Given the description of an element on the screen output the (x, y) to click on. 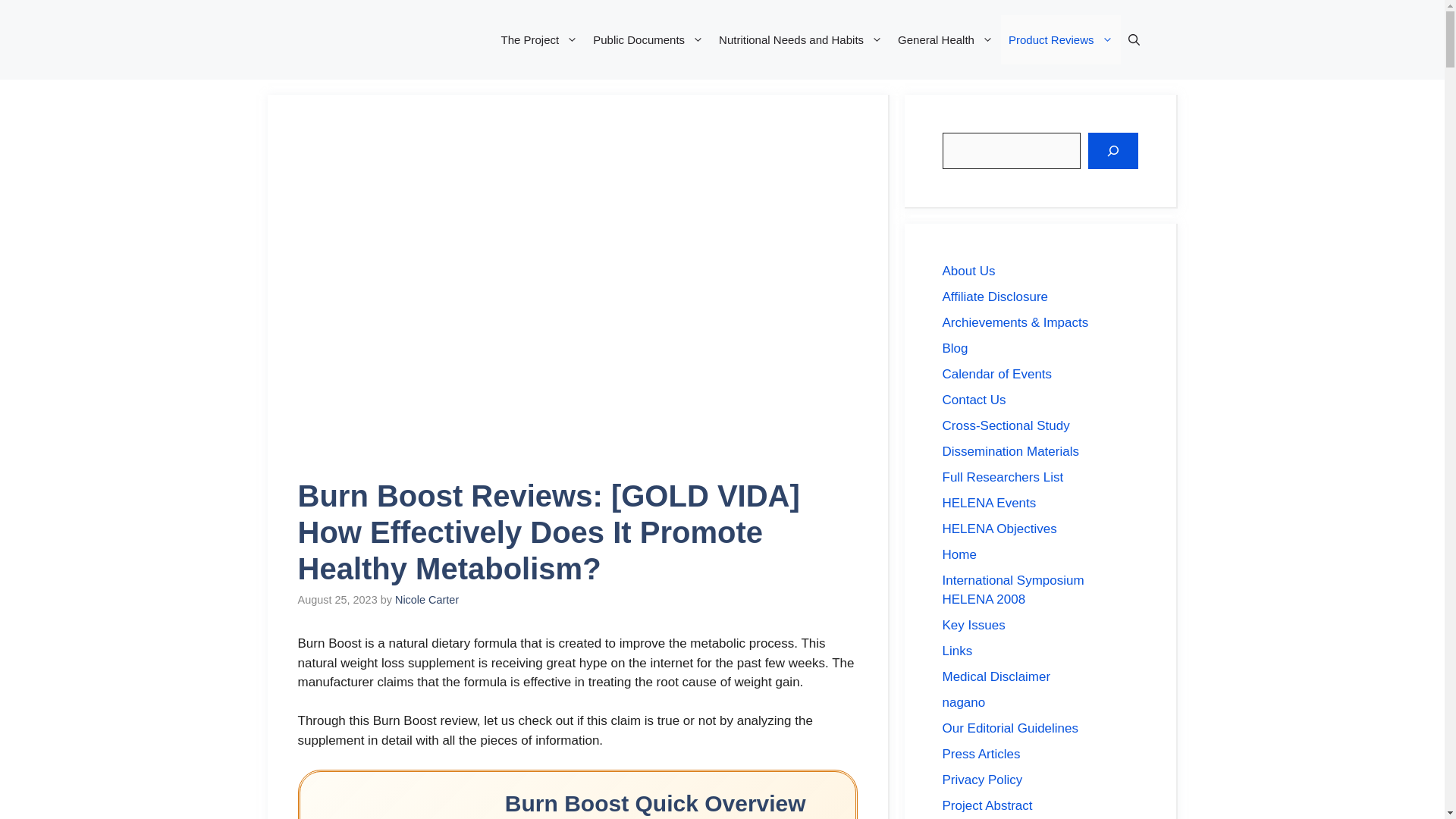
General Health (945, 39)
Product Reviews (1061, 39)
Nutritional Needs and Habits (800, 39)
The Project (539, 39)
View all posts by Nicole Carter (426, 599)
Public Documents (648, 39)
